Given the description of an element on the screen output the (x, y) to click on. 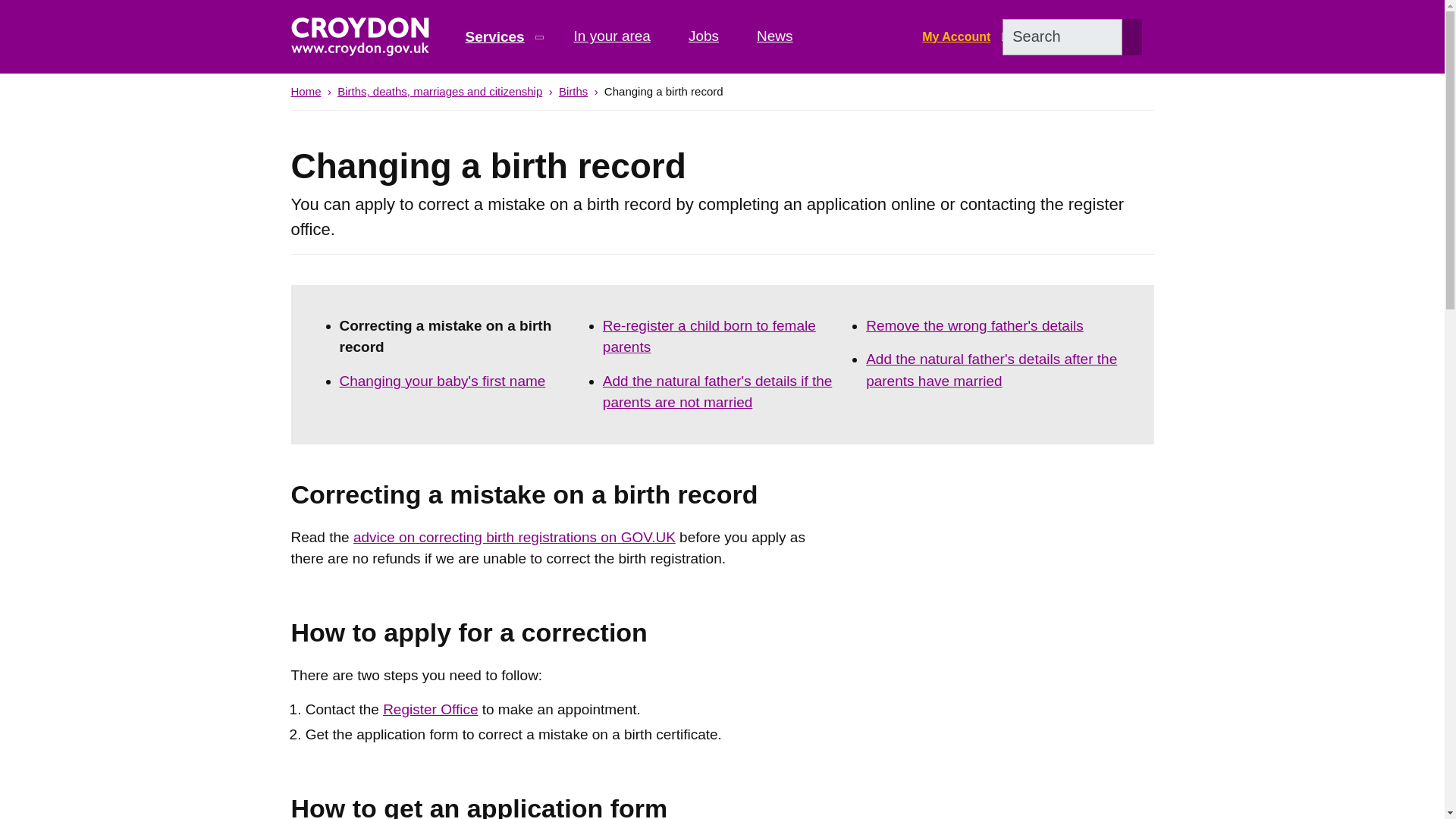
In your area (611, 36)
Births (573, 91)
advice on correcting birth registrations on GOV.UK (514, 537)
Services (502, 36)
Home (306, 91)
Re-register a child born to female parents (708, 336)
News (775, 36)
In your area (611, 36)
News (775, 36)
